Given the description of an element on the screen output the (x, y) to click on. 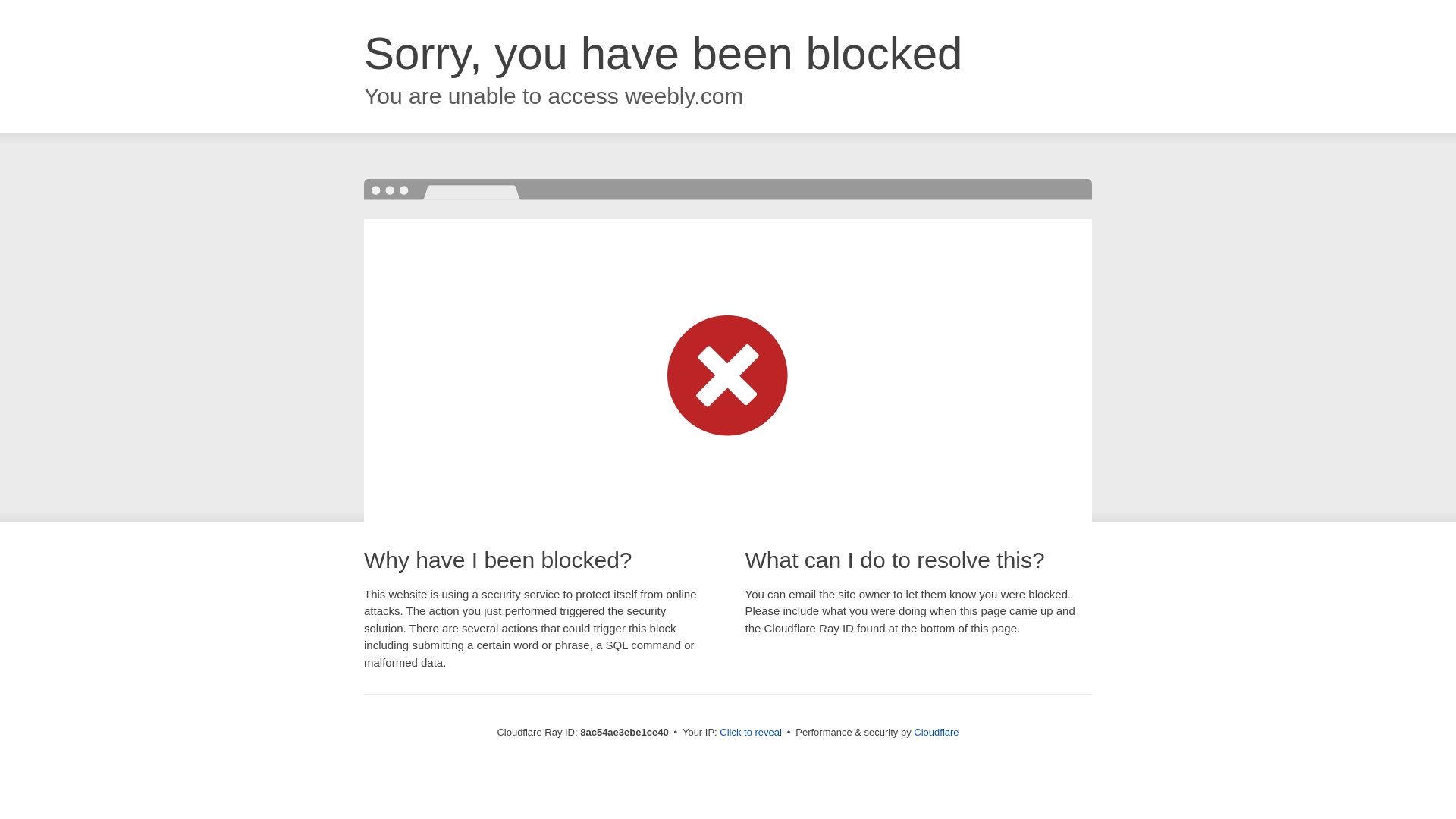
Click to reveal (750, 732)
Cloudflare (936, 731)
